Given the description of an element on the screen output the (x, y) to click on. 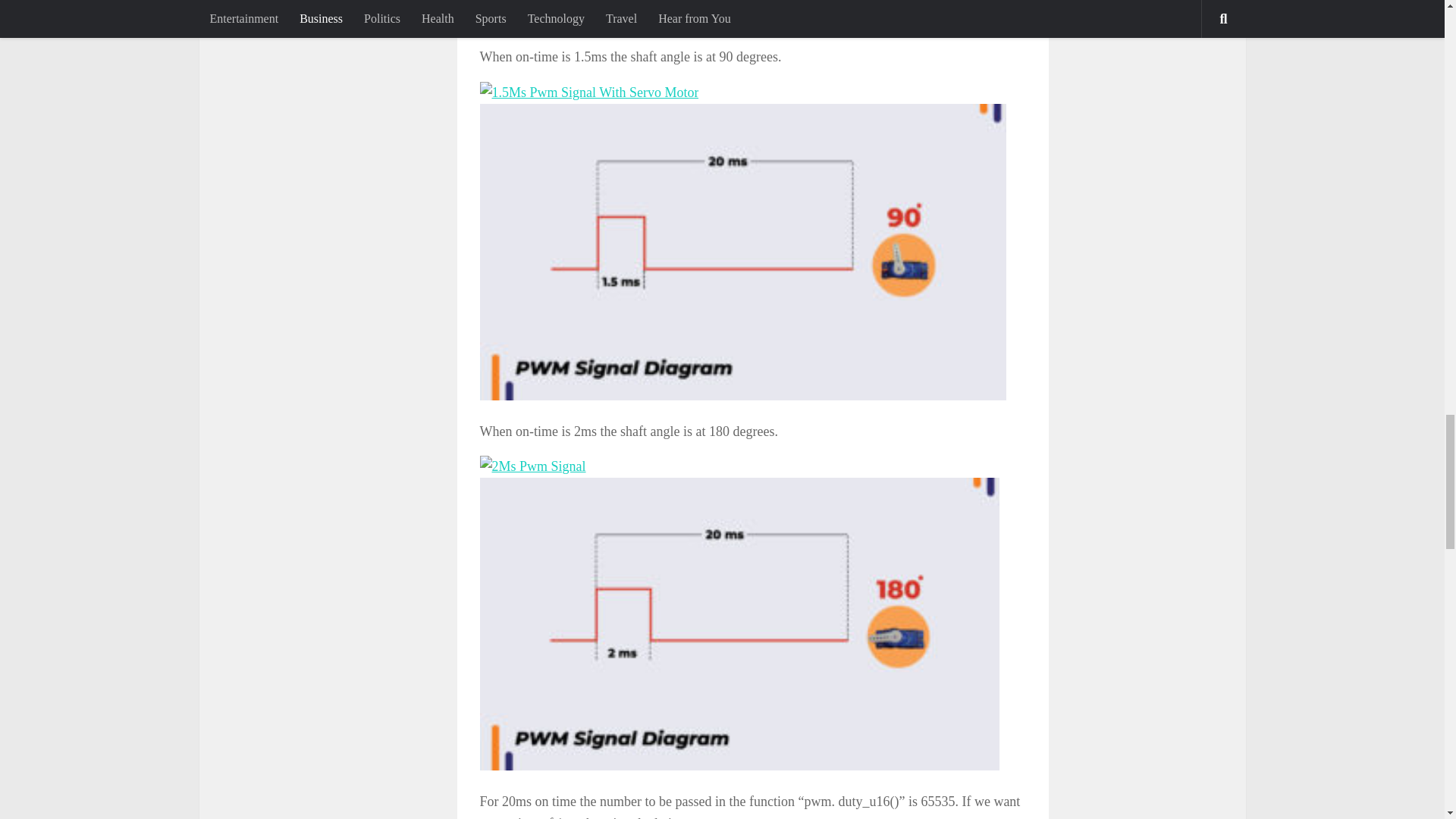
Servo Motor 1.5Ms Servo 1 (588, 92)
Servo Motor 1Ms Servo 1 (744, 13)
